Given the description of an element on the screen output the (x, y) to click on. 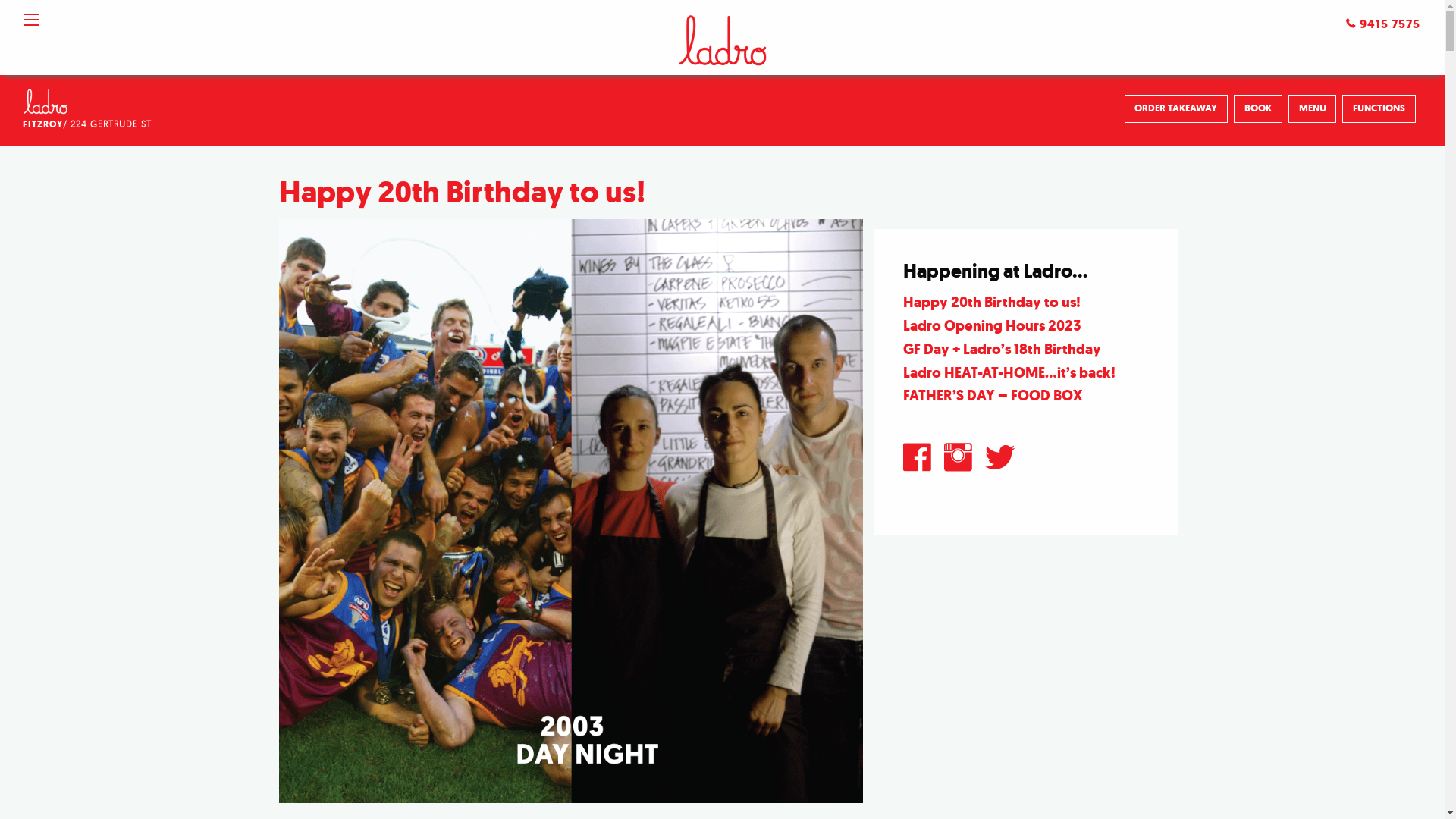
ORDER TAKEAWAY Element type: text (1176, 108)
Happy 20th Birthday to us! Element type: text (462, 191)
MENU Element type: text (1312, 108)
Happy 20th Birthday to us! Element type: text (991, 301)
Ladro Opening Hours 2023 Element type: text (991, 325)
BOOK Element type: text (1257, 108)
FUNCTIONS Element type: text (1378, 108)
9415 7575 Element type: text (1383, 23)
